Given the description of an element on the screen output the (x, y) to click on. 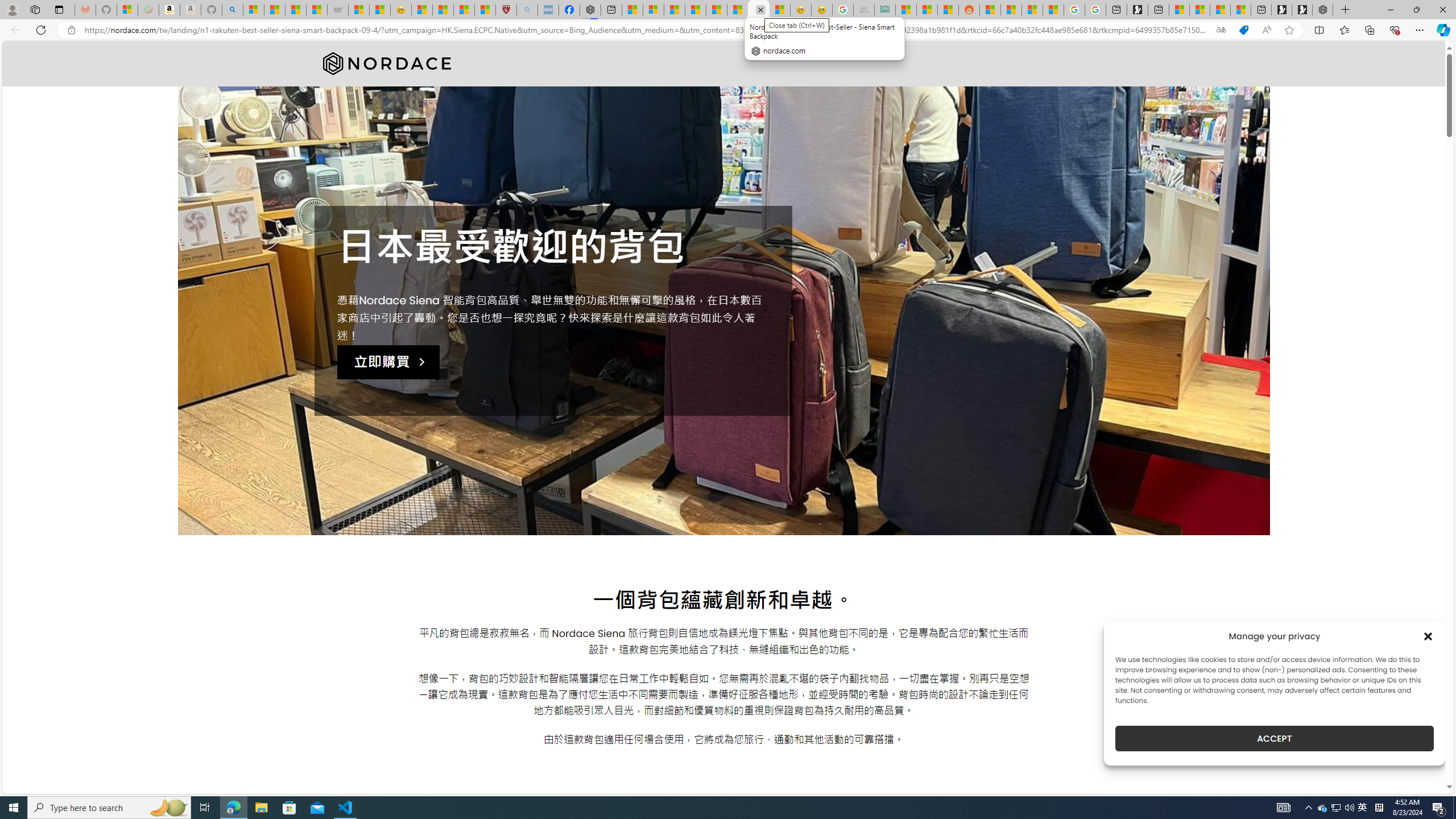
Robert H. Shmerling, MD - Harvard Health (505, 9)
Minimize (1390, 9)
Play Free Online Games | Games from Microsoft Start (1302, 9)
Nordace (386, 63)
Close tab (760, 9)
Microsoft Start (1219, 9)
Browser essentials (1394, 29)
DITOGAMES AG Imprint (884, 9)
MSNBC - MSN (906, 9)
This site has coupons! Shopping in Microsoft Edge (1243, 29)
App bar (728, 29)
